Given the description of an element on the screen output the (x, y) to click on. 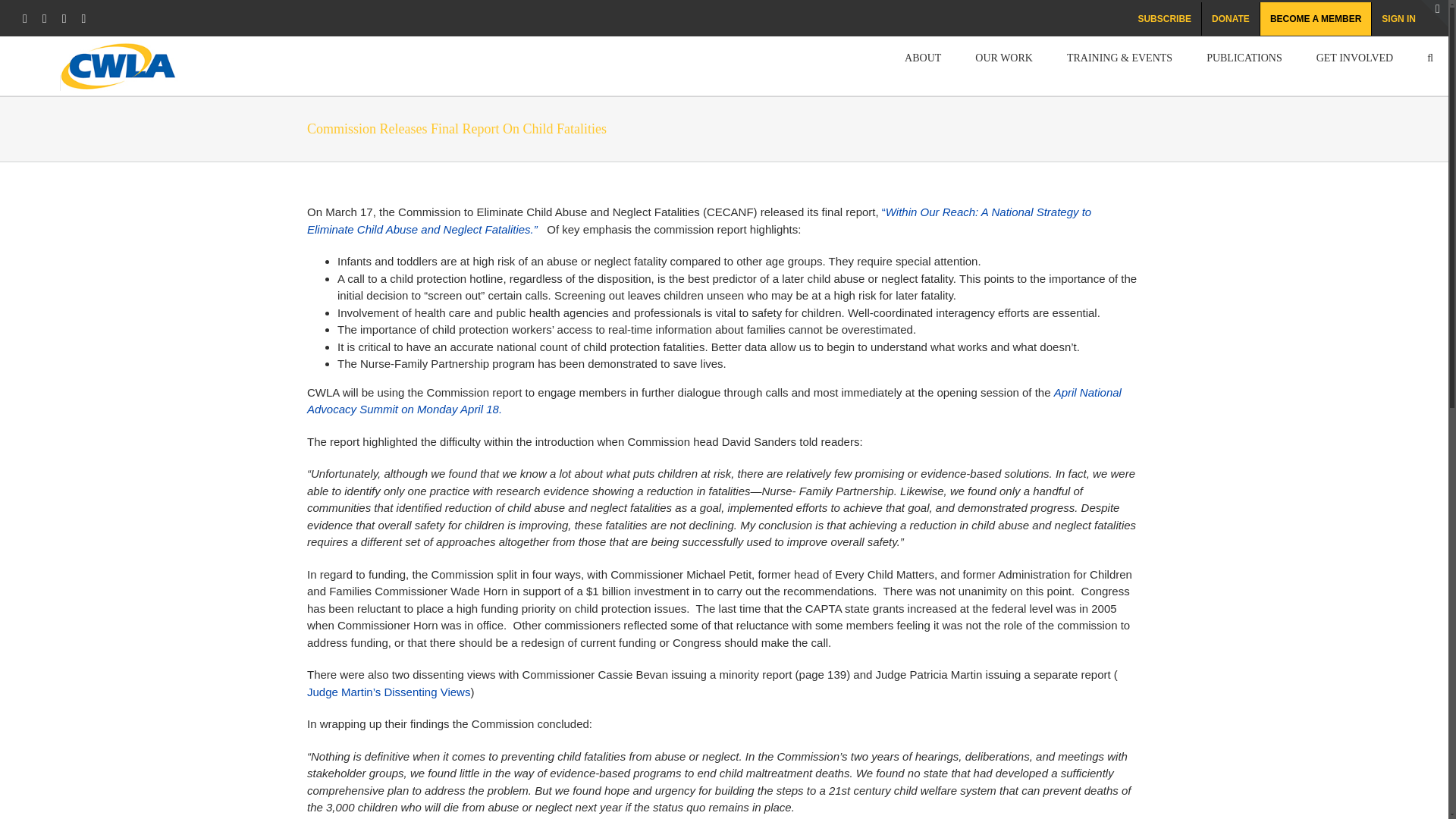
OUR WORK (1003, 56)
ABOUT (922, 56)
BECOME A MEMBER (1315, 19)
DONATE (1230, 19)
GET INVOLVED (1354, 56)
SIGN IN (1398, 19)
SUBSCRIBE (1163, 19)
PUBLICATIONS (1244, 56)
